Given the description of an element on the screen output the (x, y) to click on. 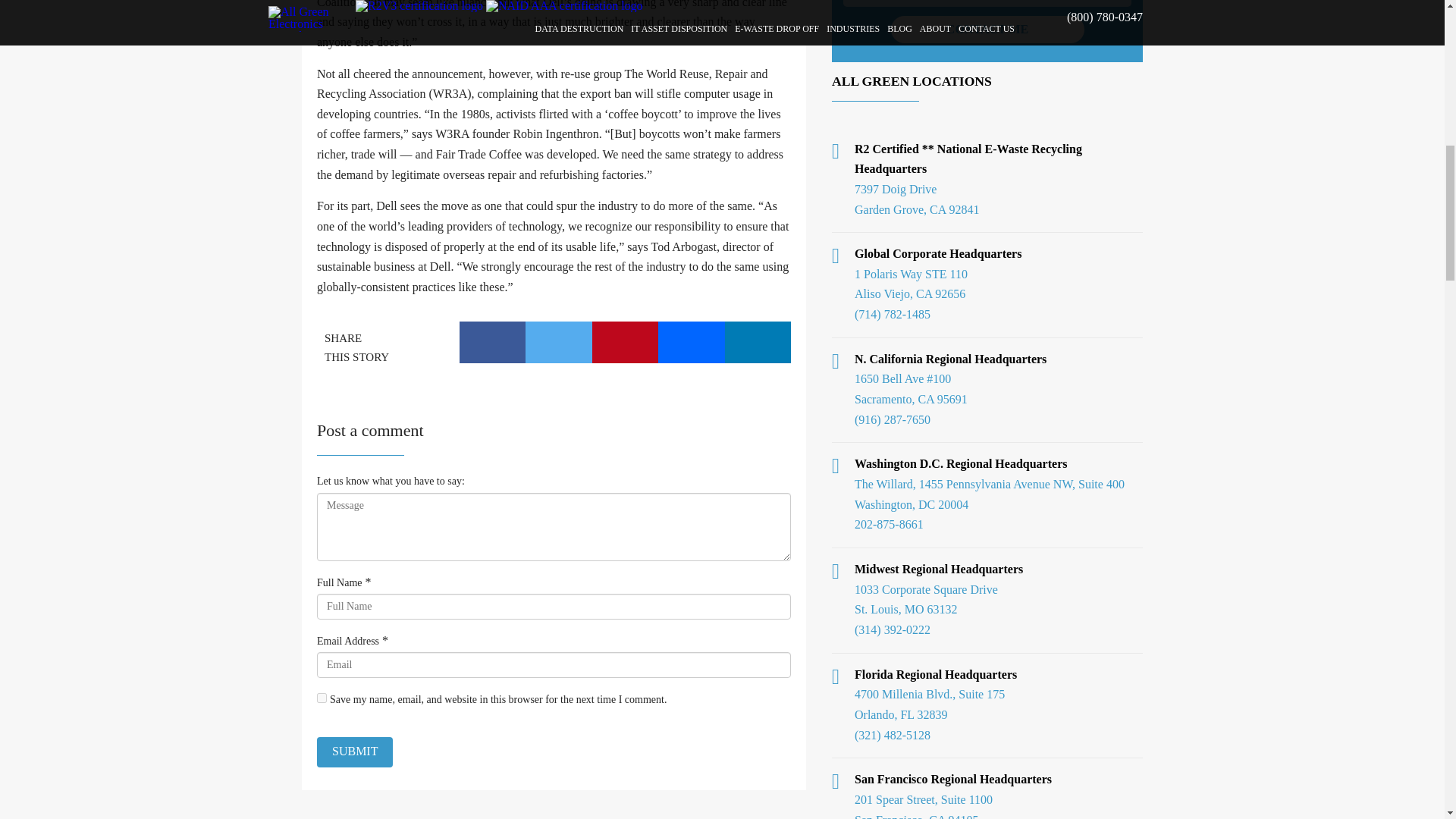
Pinterest (624, 342)
Contact Me (986, 29)
Twitter (558, 342)
yes (321, 697)
Submit (355, 752)
Contact Me (986, 29)
Submit (355, 752)
Email (691, 342)
LinkedIn (758, 342)
